Given the description of an element on the screen output the (x, y) to click on. 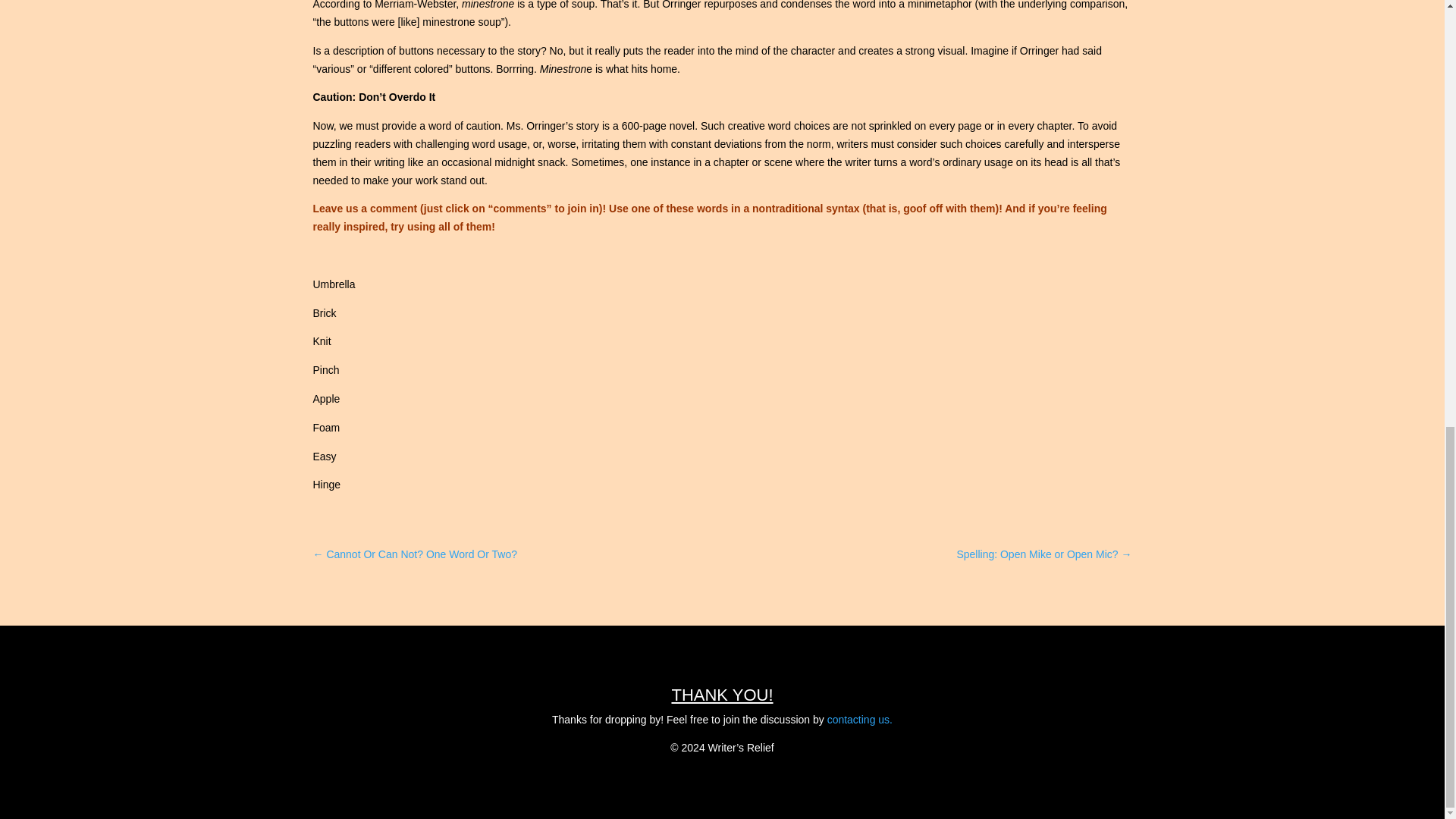
contacting us. (859, 719)
